Given the description of an element on the screen output the (x, y) to click on. 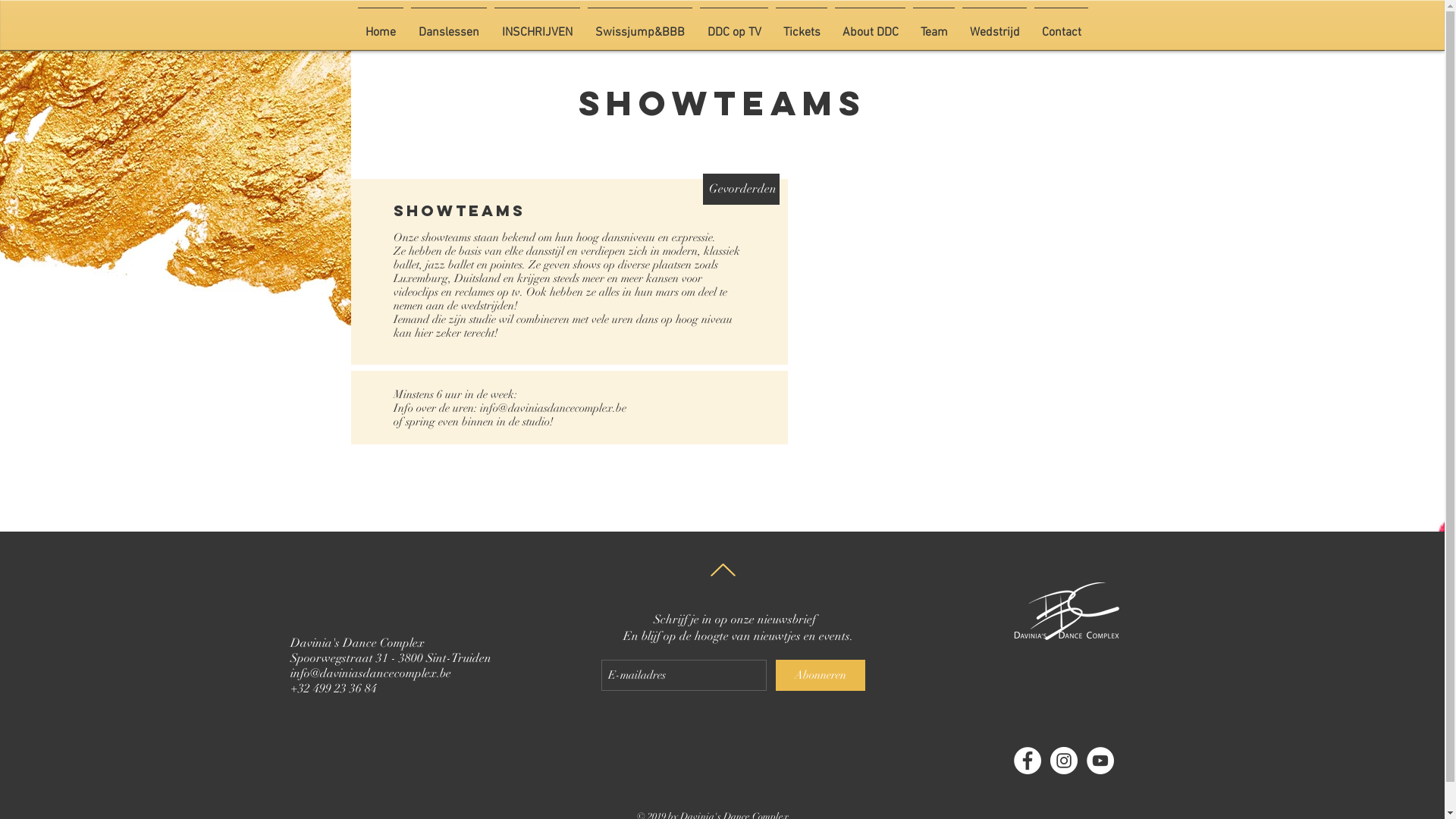
Abonneren Element type: text (819, 674)
Swissjump&BBB Element type: text (639, 25)
Wedstrijd Element type: text (994, 25)
Contact Element type: text (1061, 25)
About DDC Element type: text (870, 25)
Home Element type: text (380, 25)
Danslessen Element type: text (448, 25)
DDC op TV Element type: text (733, 25)
Tickets Element type: text (801, 25)
INSCHRIJVEN Element type: text (536, 25)
Team Element type: text (933, 25)
